Given the description of an element on the screen output the (x, y) to click on. 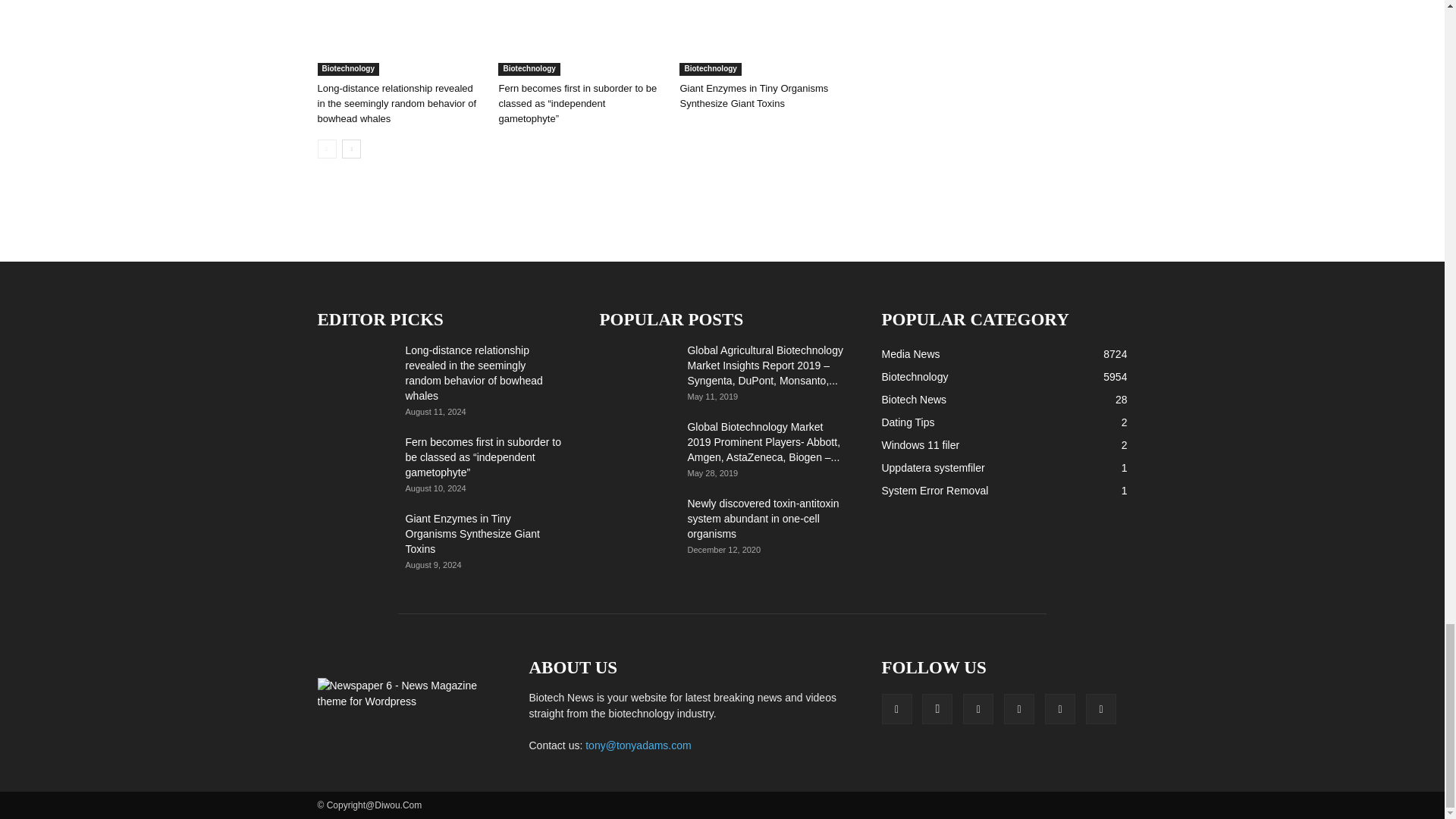
Giant Enzymes in Tiny Organisms Synthesize Giant Toxins (761, 38)
